Given the description of an element on the screen output the (x, y) to click on. 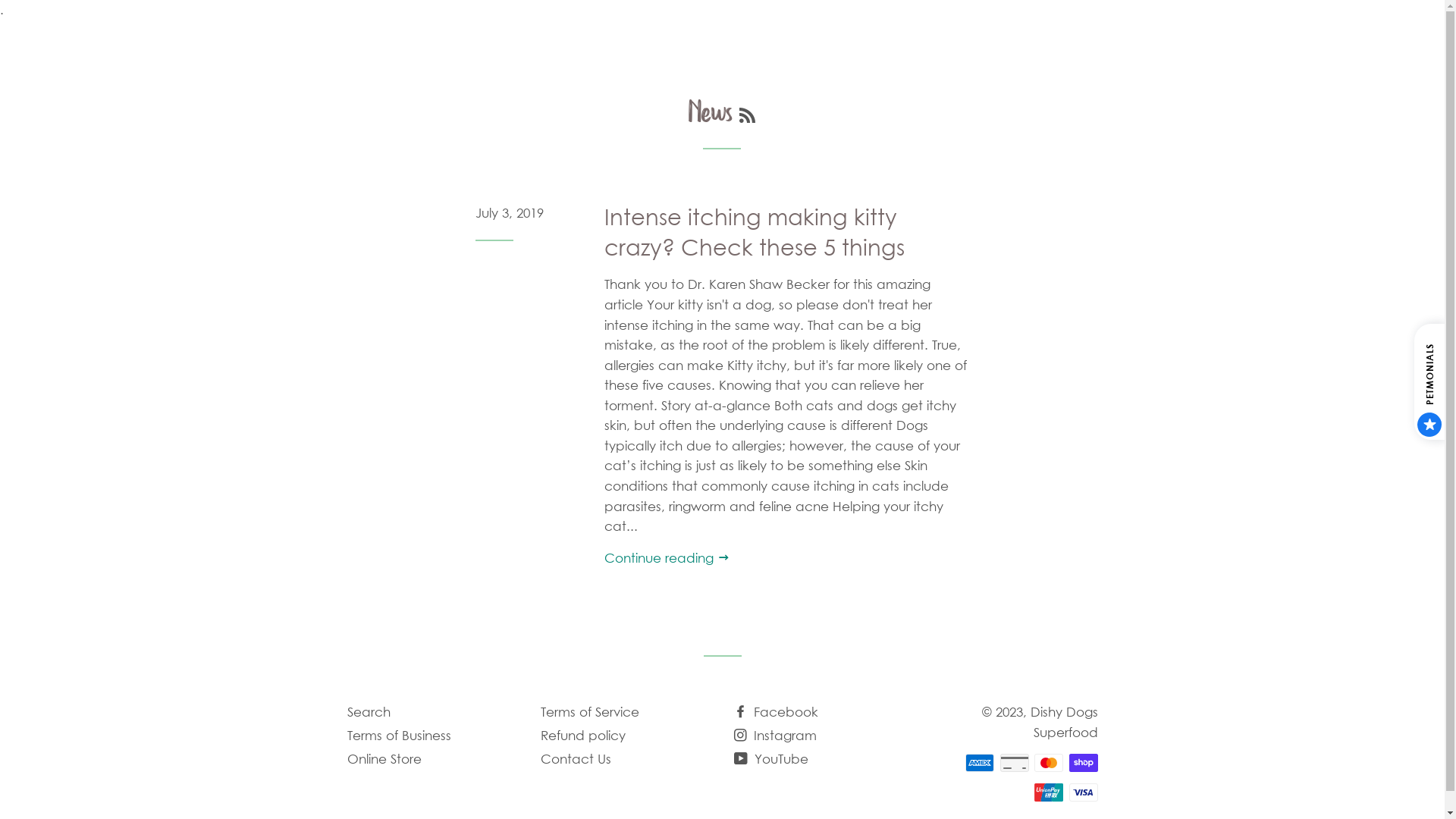
Continue reading Element type: text (667, 557)
RSS Element type: text (747, 115)
YouTube Element type: text (771, 758)
Intense itching making kitty crazy? Check these 5 things Element type: text (754, 232)
Search Element type: text (368, 711)
Terms of Service Element type: text (588, 711)
Instagram Element type: text (775, 735)
Contact Us Element type: text (574, 758)
Online Store Element type: text (384, 758)
Refund policy Element type: text (581, 735)
Dishy Dogs Superfood Element type: text (1063, 721)
Terms of Business Element type: text (399, 735)
Facebook Element type: text (776, 711)
